Given the description of an element on the screen output the (x, y) to click on. 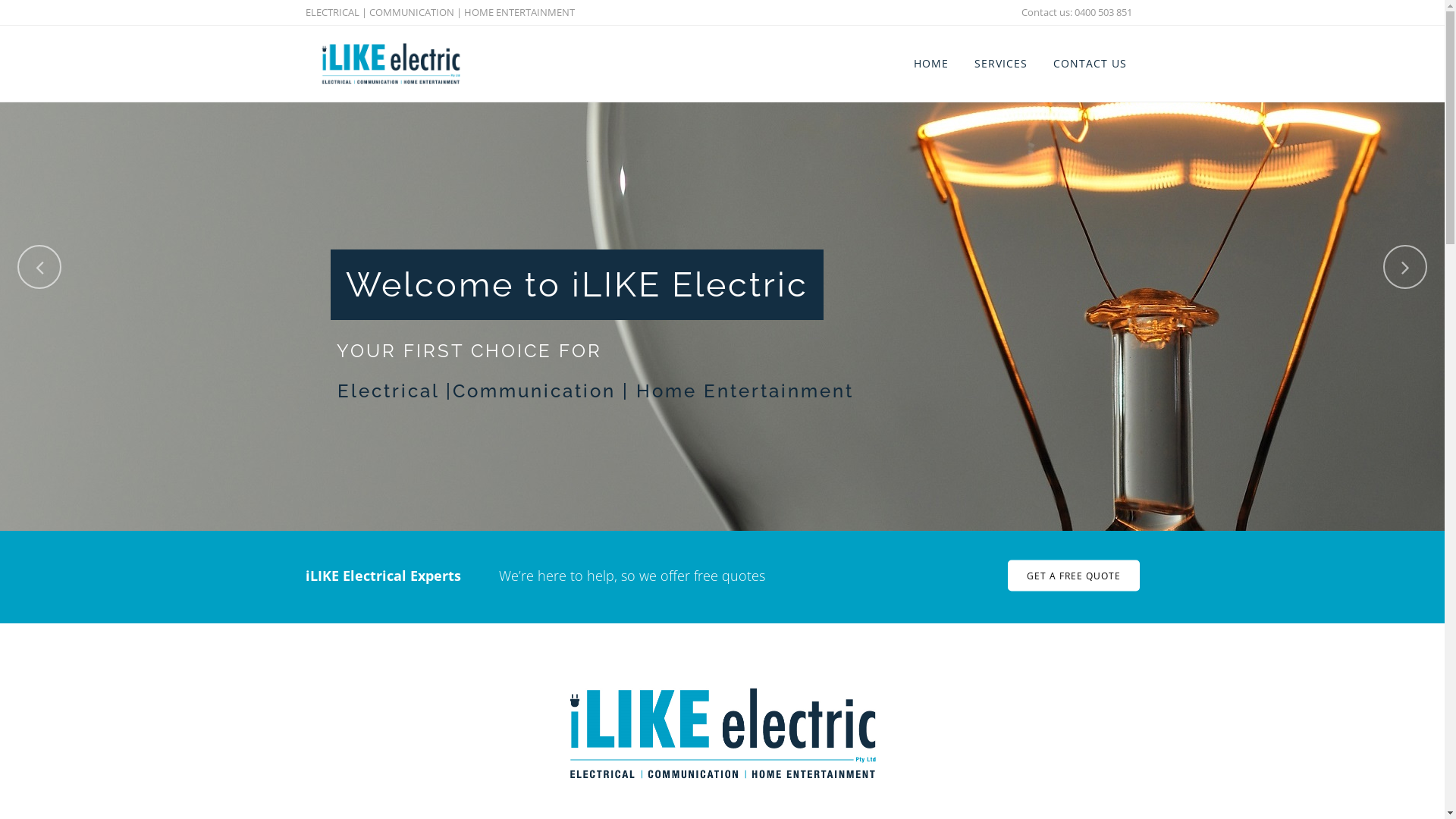
GET A FREE QUOTE Element type: text (1073, 575)
HOME Element type: text (930, 63)
SERVICES Element type: text (1000, 63)
CONTACT US Element type: text (1089, 63)
Geeky Girl Element type: text (1113, 747)
